Given the description of an element on the screen output the (x, y) to click on. 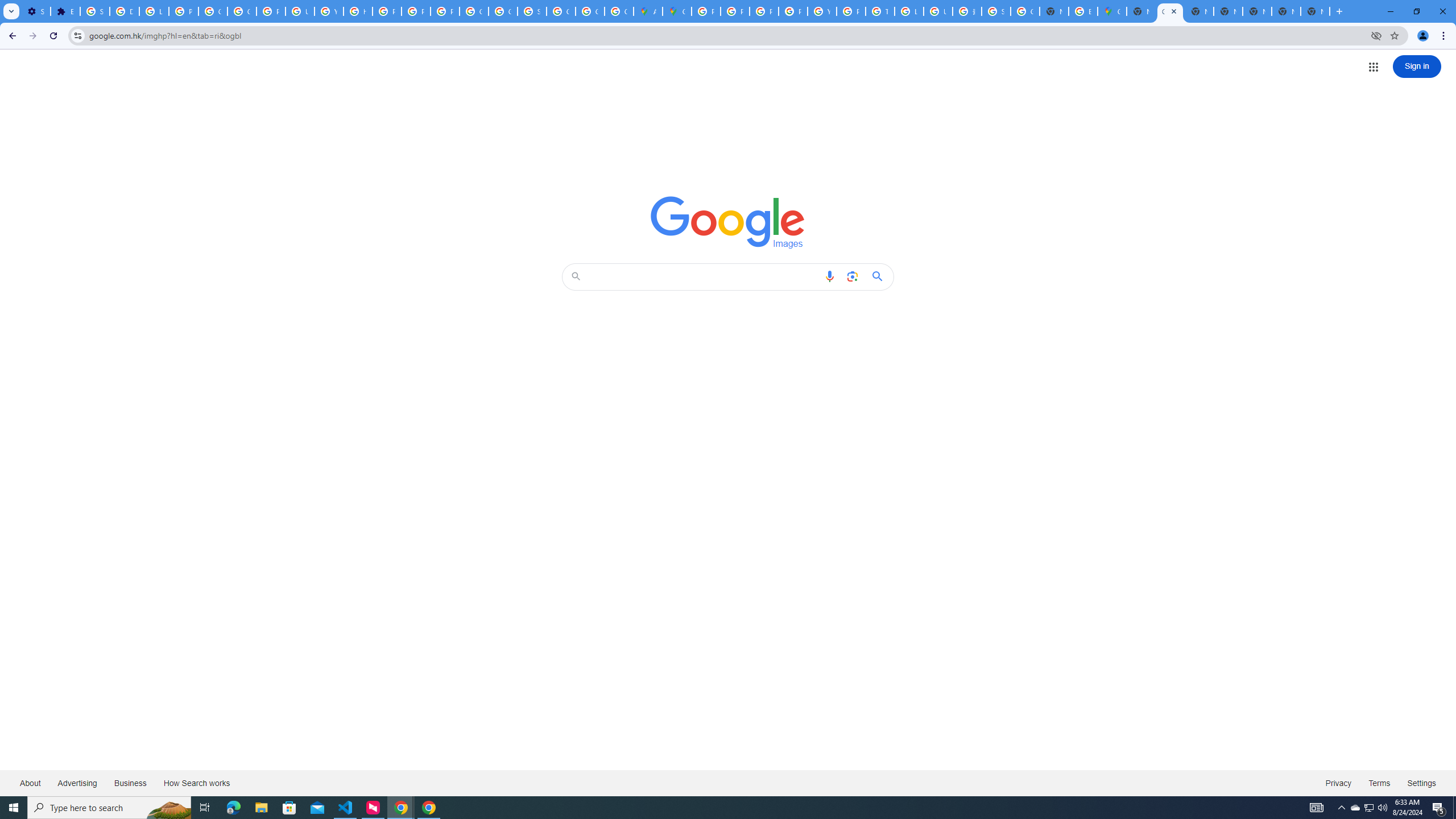
New Tab (1140, 11)
Google Search (880, 276)
Business (129, 782)
About (30, 782)
Privacy Help Center - Policies Help (763, 11)
How Search works (196, 782)
https://scholar.google.com/ (357, 11)
Sign in - Google Accounts (996, 11)
New Tab (1315, 11)
